Given the description of an element on the screen output the (x, y) to click on. 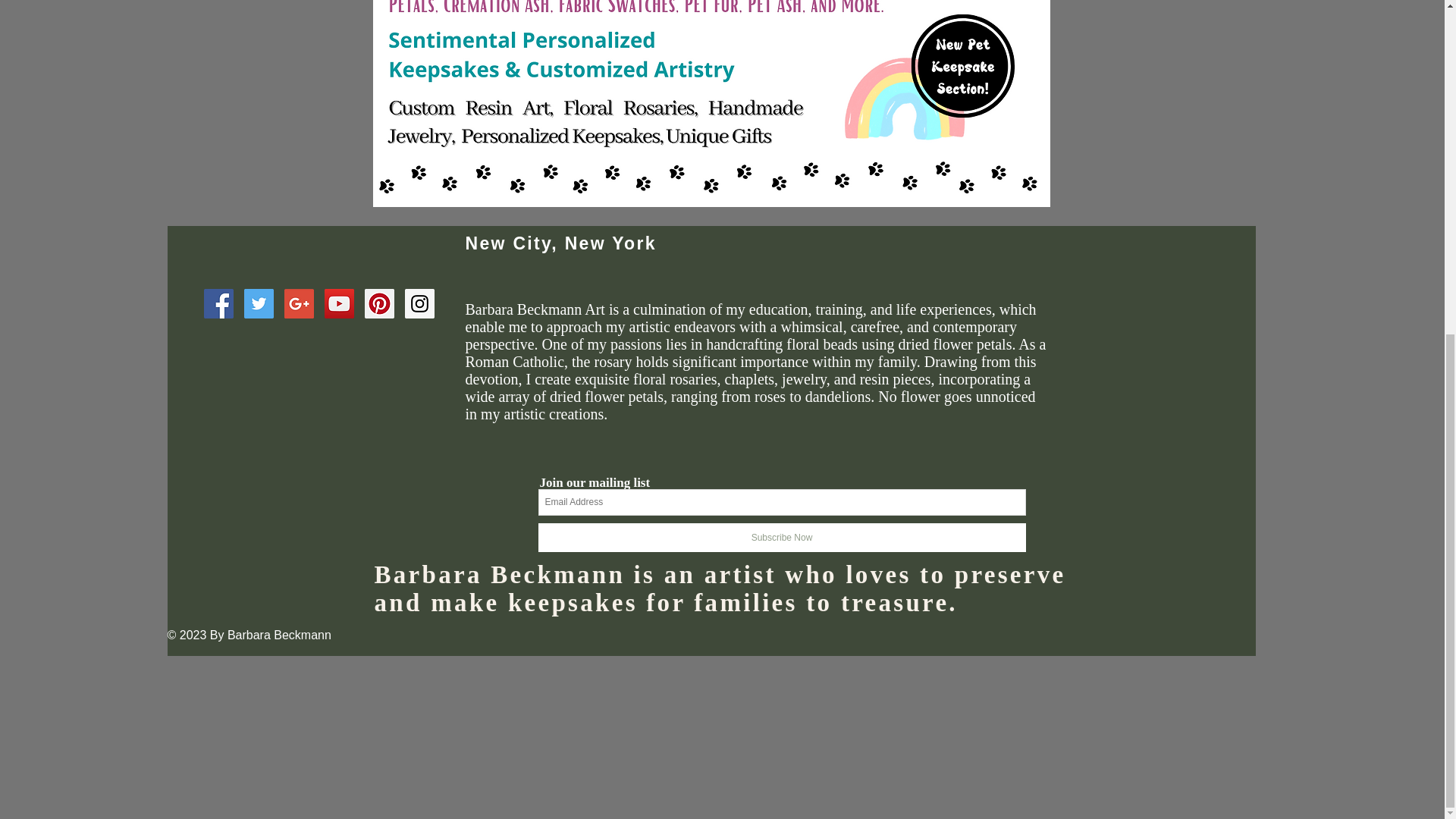
Subscribe Now (782, 537)
